Given the description of an element on the screen output the (x, y) to click on. 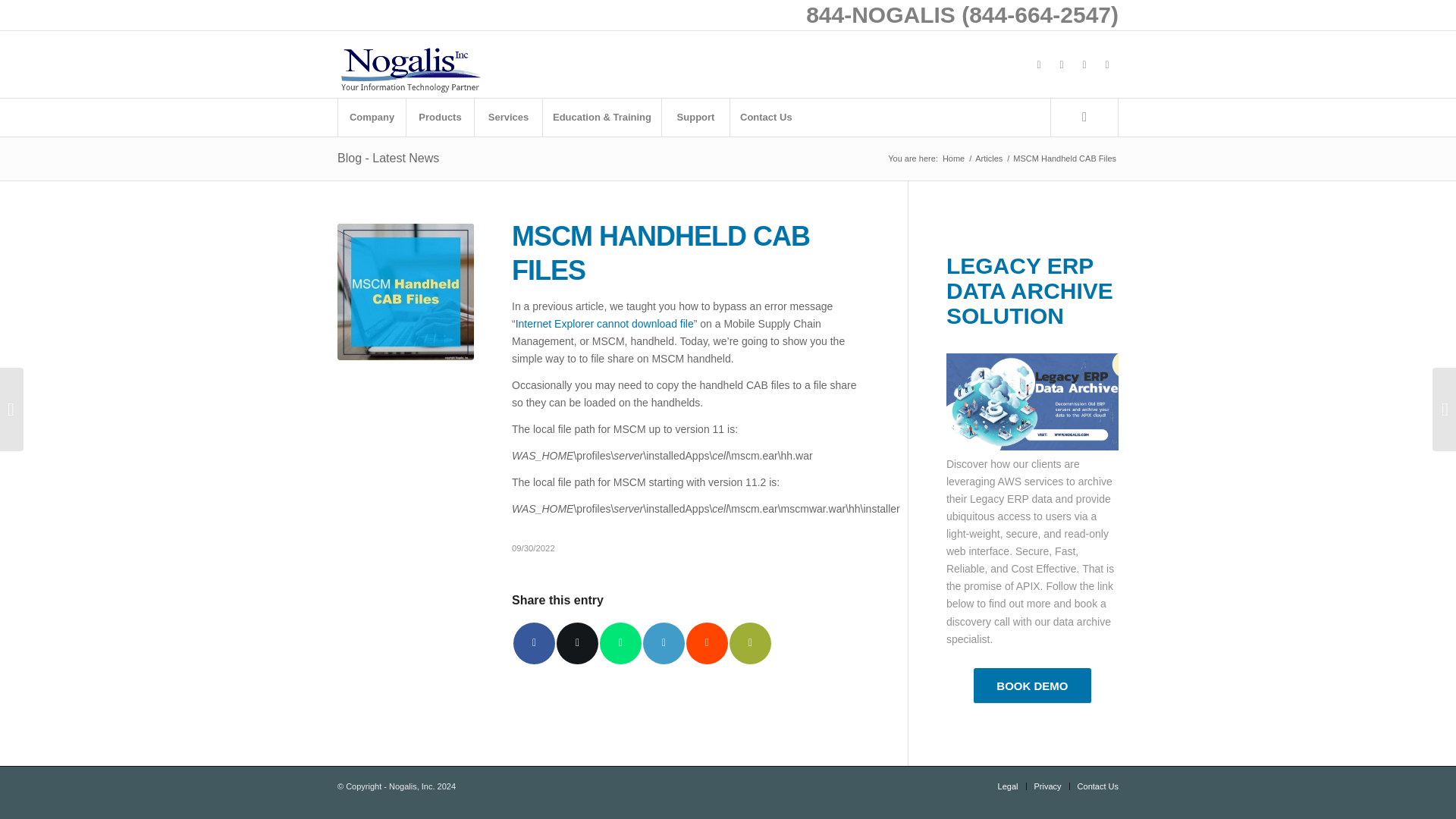
Products (440, 117)
Book a time to discuss your project with an expert (1032, 685)
Home (953, 158)
Permanent Link: Blog - Latest News (388, 157)
Privacy (1047, 786)
Contact Us (765, 117)
Nogalis, Inc. (953, 158)
Mail (1107, 64)
LinkedIn (1084, 64)
logo with slogan good (410, 64)
Articles (988, 158)
Company (371, 117)
LEGACY ERP DATA ARCHIVE SOLUTION (1029, 290)
MSCM-Handheld-CAB-Files (405, 291)
BOOK DEMO (1032, 685)
